Given the description of an element on the screen output the (x, y) to click on. 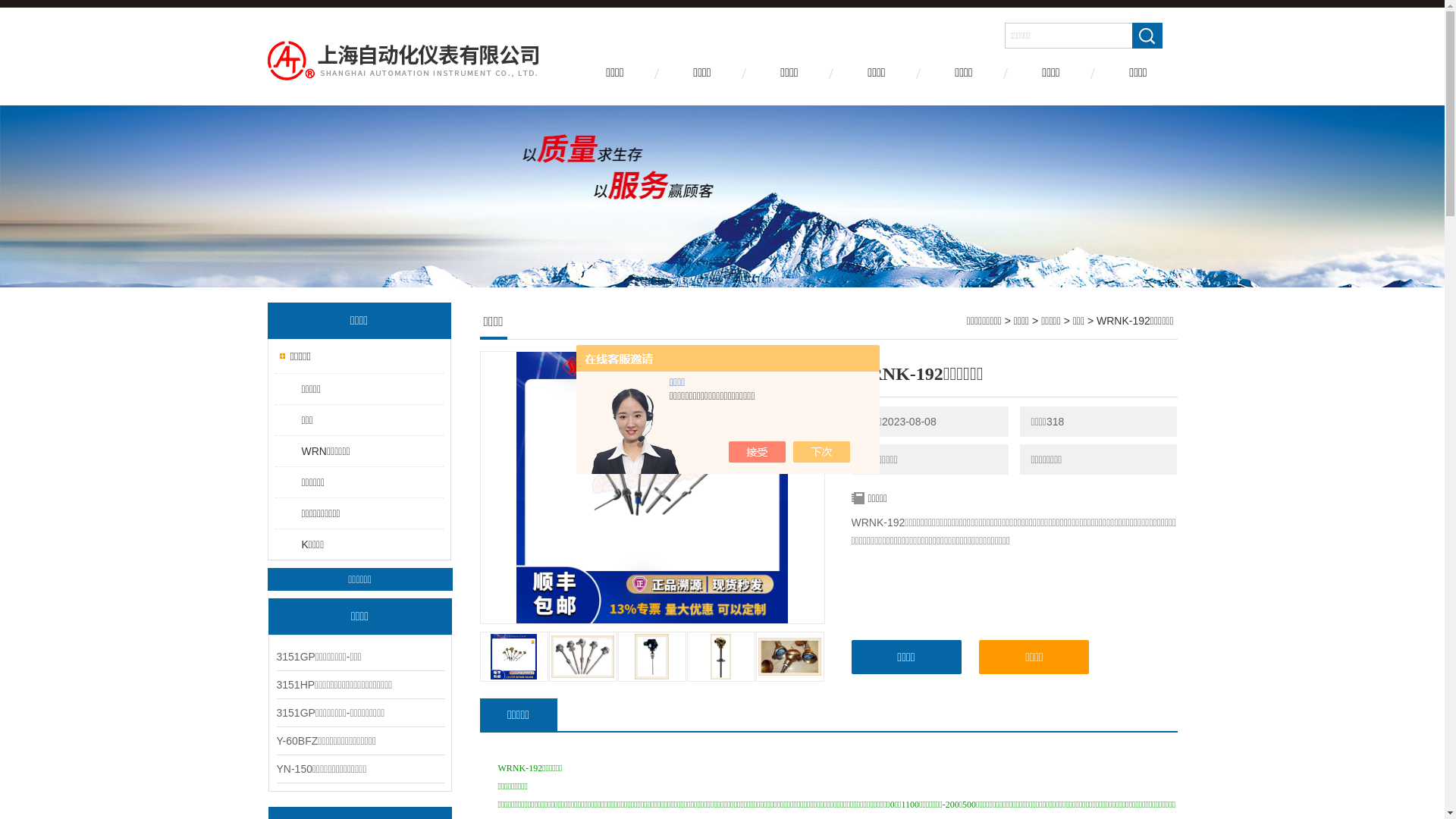
  Element type: text (1146, 35)
